Given the description of an element on the screen output the (x, y) to click on. 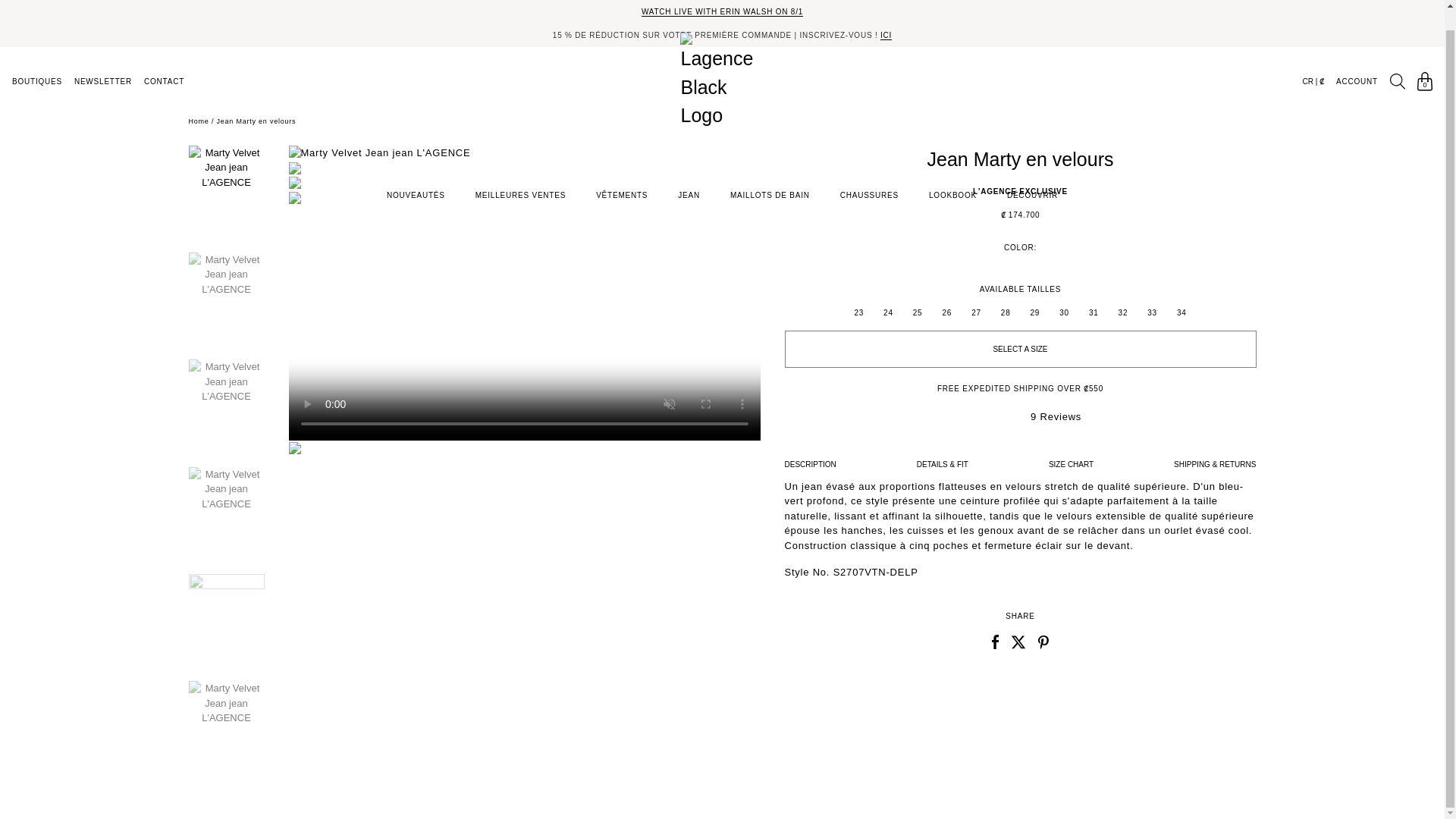
MEILLEURES VENTES (521, 174)
X Logo (1018, 642)
Search (1397, 61)
Home (197, 121)
Magnifying Glass (1397, 61)
CONTACT (164, 61)
ACCOUNT (1356, 61)
NEWSLETTER (103, 61)
Contact (164, 61)
ICI (885, 15)
